Given the description of an element on the screen output the (x, y) to click on. 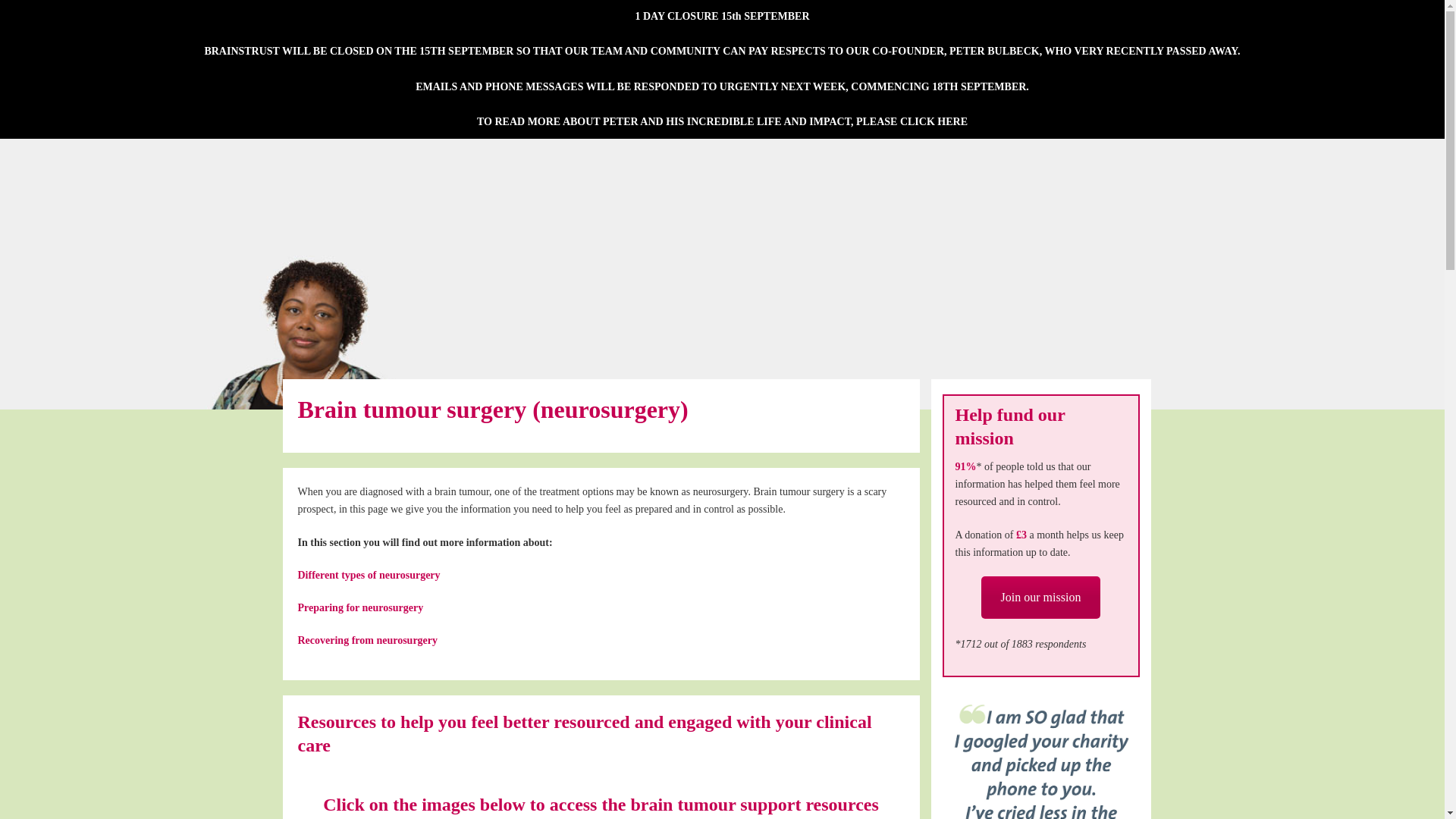
Brain tumour advice and brain tumour help (376, 63)
PLEASE CLICK HERE (642, 68)
Donate (912, 121)
01983 292 405 (557, 68)
